Given the description of an element on the screen output the (x, y) to click on. 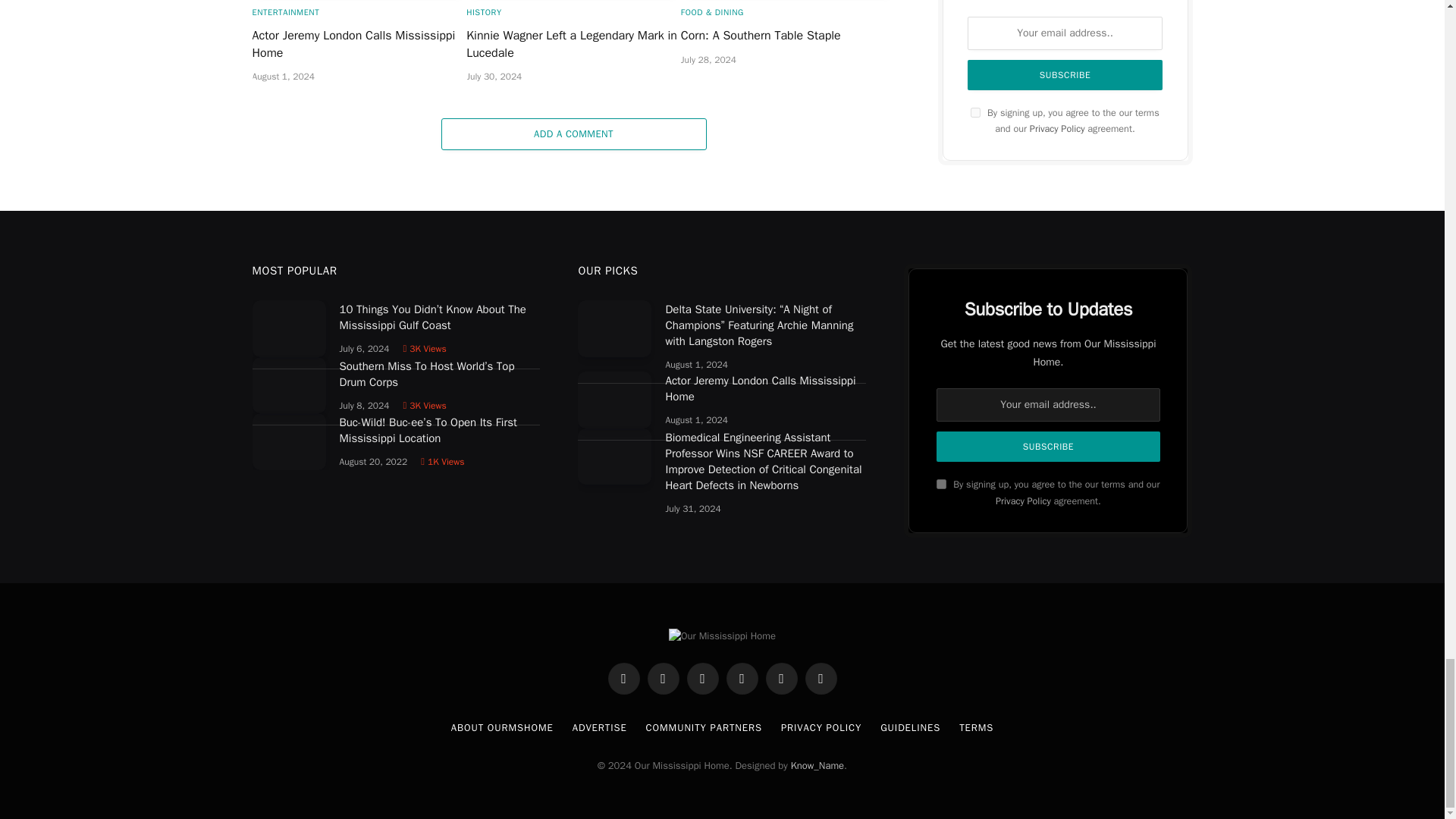
on (941, 483)
Subscribe (1047, 446)
